Given the description of an element on the screen output the (x, y) to click on. 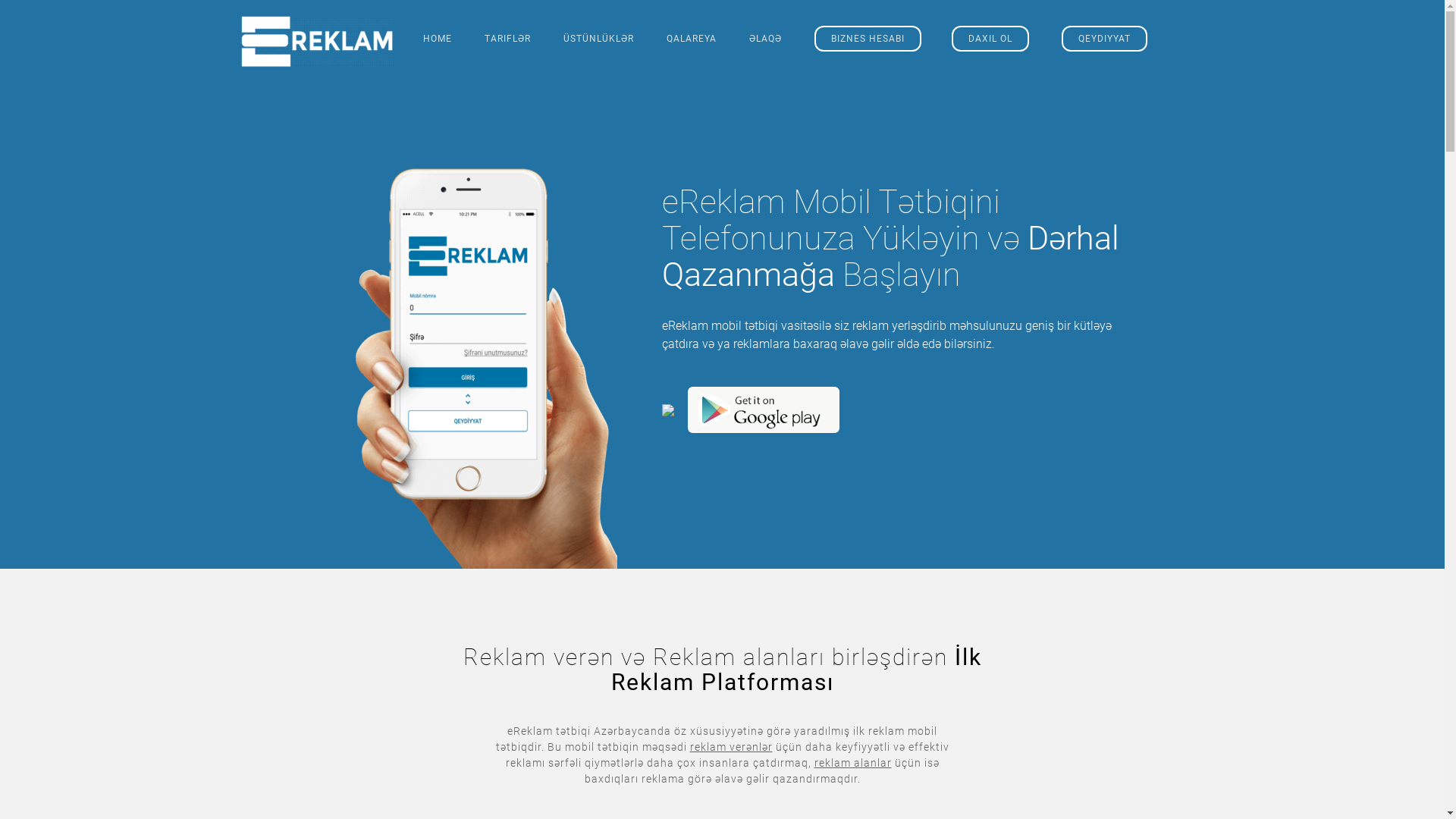
DAXIL OL Element type: text (989, 38)
QEYDIYYAT Element type: text (1104, 38)
BIZNES HESABI Element type: text (867, 38)
HOME Element type: text (437, 38)
QALAREYA Element type: text (690, 38)
